Given the description of an element on the screen output the (x, y) to click on. 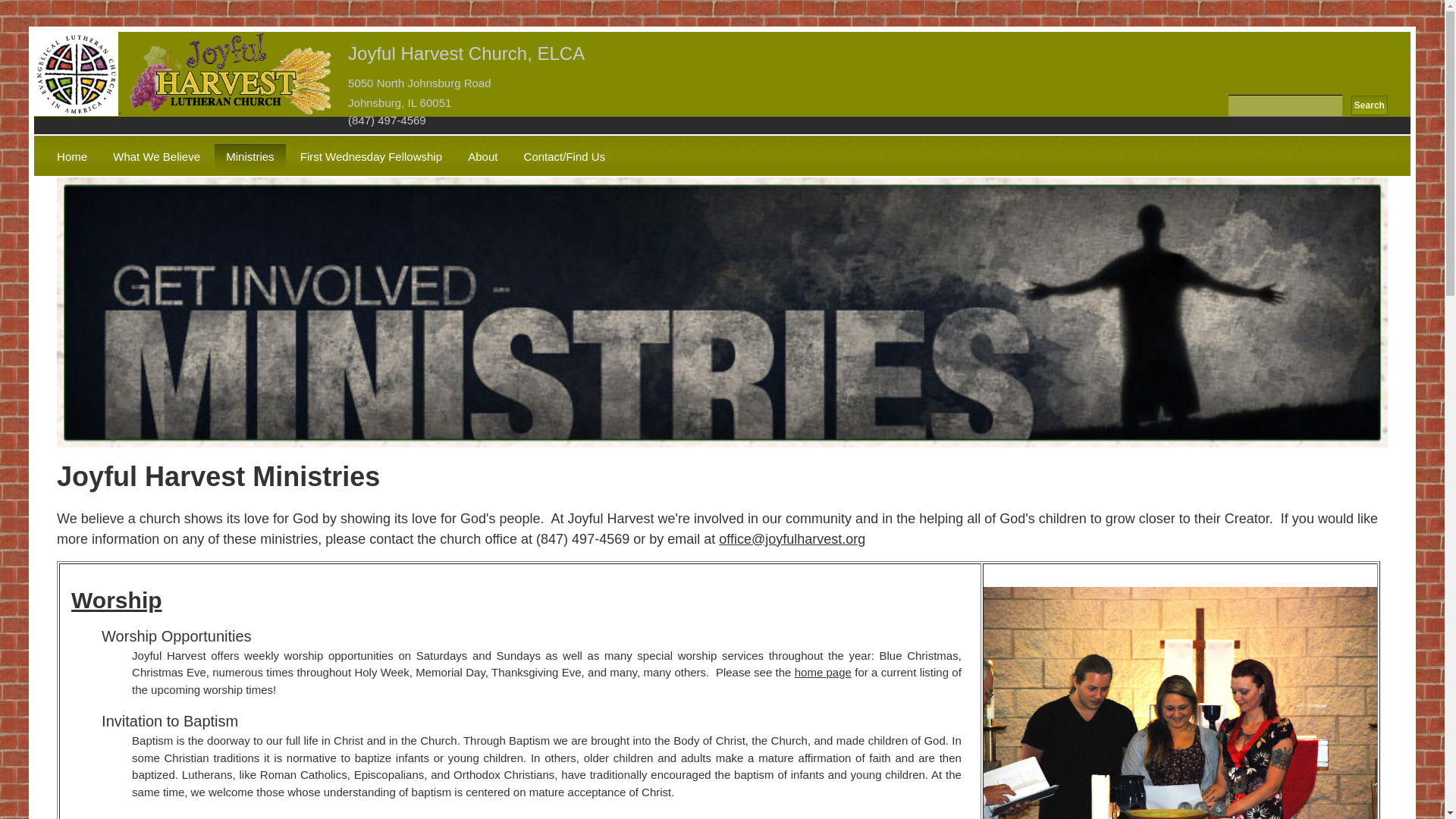
Home (72, 158)
First Wednesday Fellowship (370, 158)
Ministries (249, 158)
Search (1369, 105)
About (482, 158)
What We Believe (156, 158)
home page (822, 671)
Search (1369, 105)
